Given the description of an element on the screen output the (x, y) to click on. 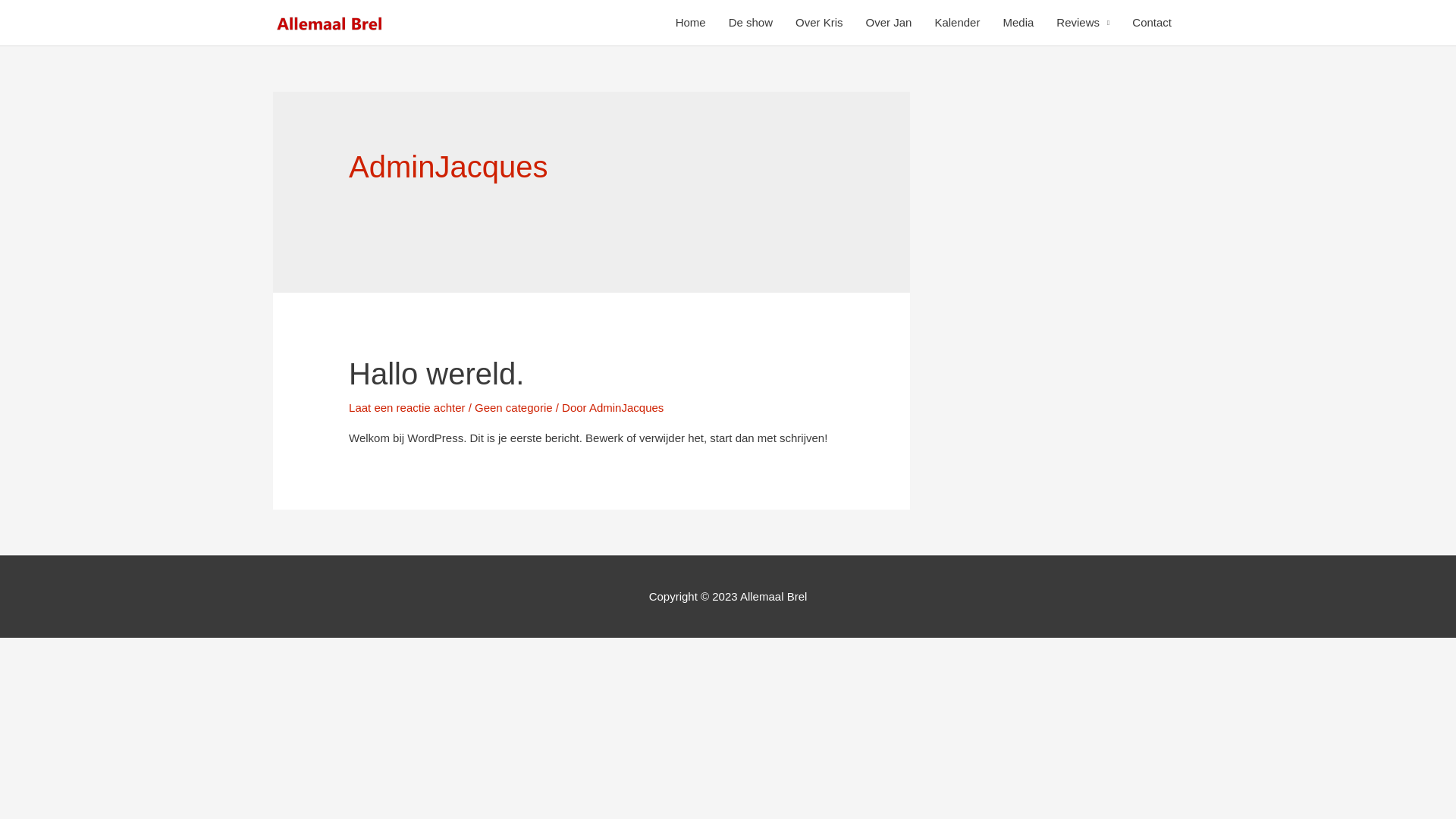
Reviews Element type: text (1082, 22)
De show Element type: text (750, 22)
Hallo wereld. Element type: text (436, 373)
Geen categorie Element type: text (513, 407)
Over Jan Element type: text (888, 22)
Laat een reactie achter Element type: text (406, 407)
Home Element type: text (690, 22)
Kalender Element type: text (956, 22)
AdminJacques Element type: text (626, 407)
Contact Element type: text (1151, 22)
Over Kris Element type: text (819, 22)
Media Element type: text (1017, 22)
